Given the description of an element on the screen output the (x, y) to click on. 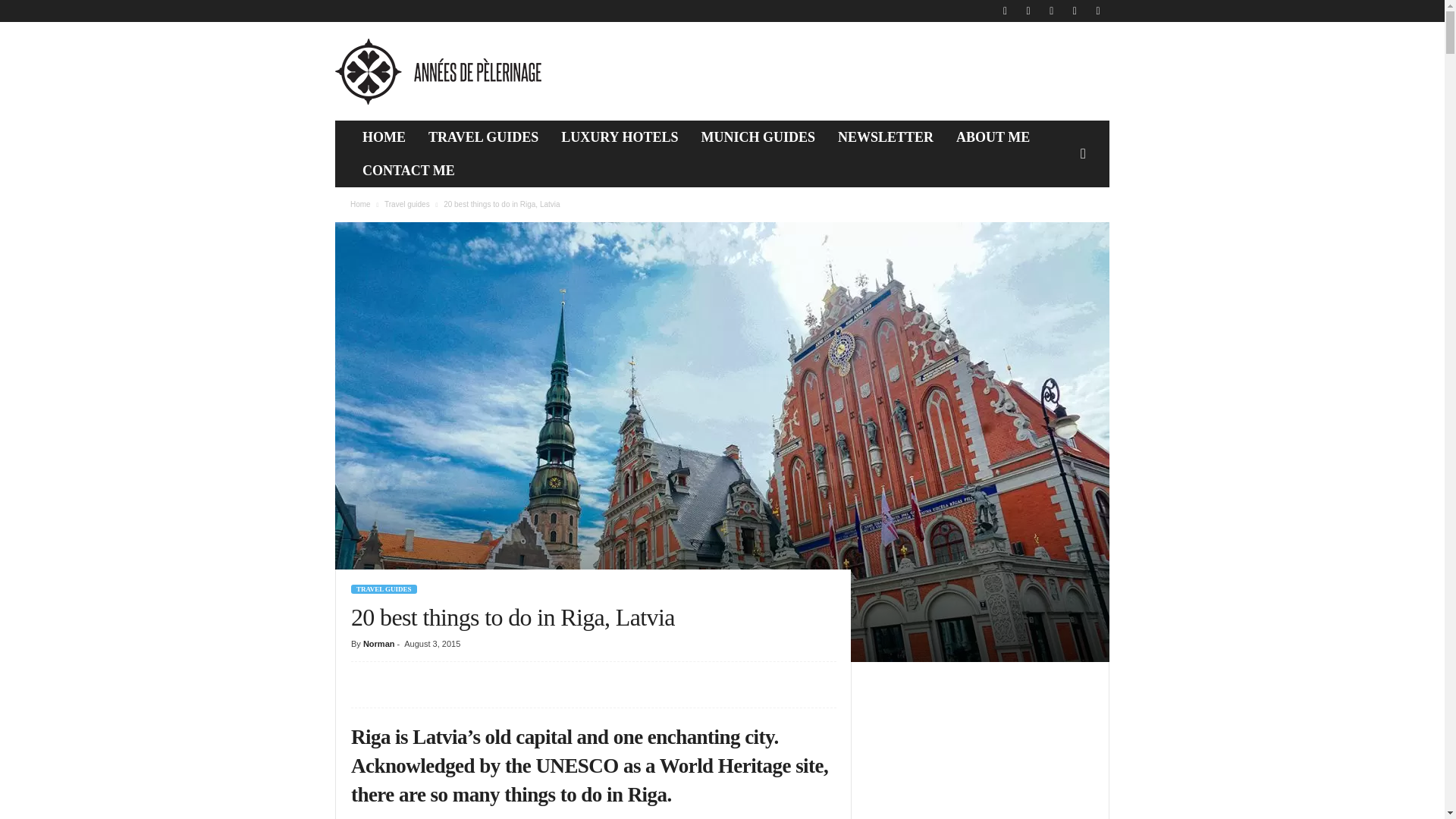
Travel guides (406, 203)
Norman (378, 643)
CONTACT ME (407, 170)
Annees de pelerinage (437, 70)
ABOUT ME (992, 136)
NEWSLETTER (885, 136)
TRAVEL GUIDES (383, 588)
MUNICH GUIDES (757, 136)
HOME (383, 136)
View all posts in Travel guides (406, 203)
LUXURY HOTELS (619, 136)
Home (360, 203)
TRAVEL GUIDES (483, 136)
